Given the description of an element on the screen output the (x, y) to click on. 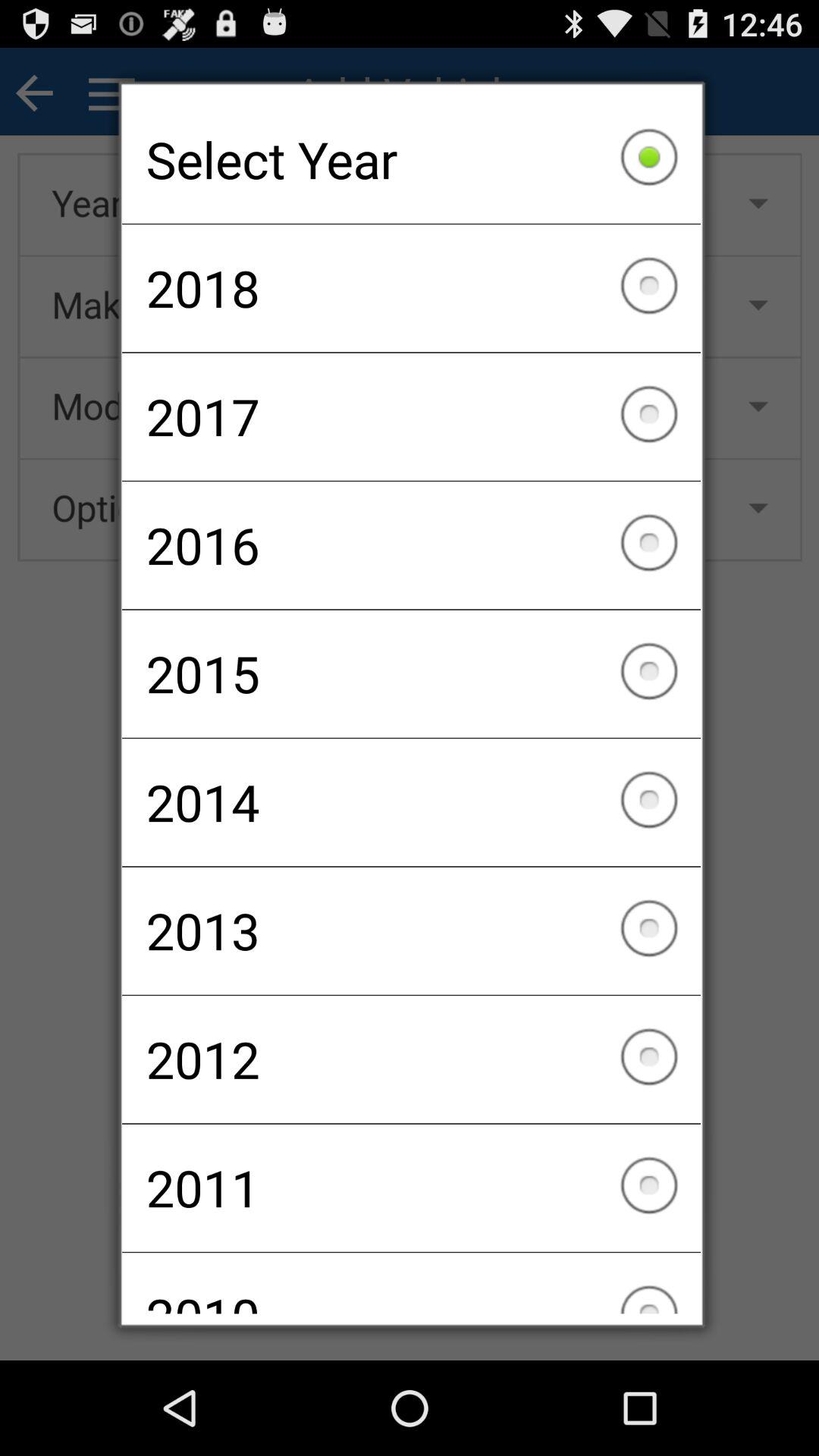
jump to 2015 checkbox (411, 673)
